Given the description of an element on the screen output the (x, y) to click on. 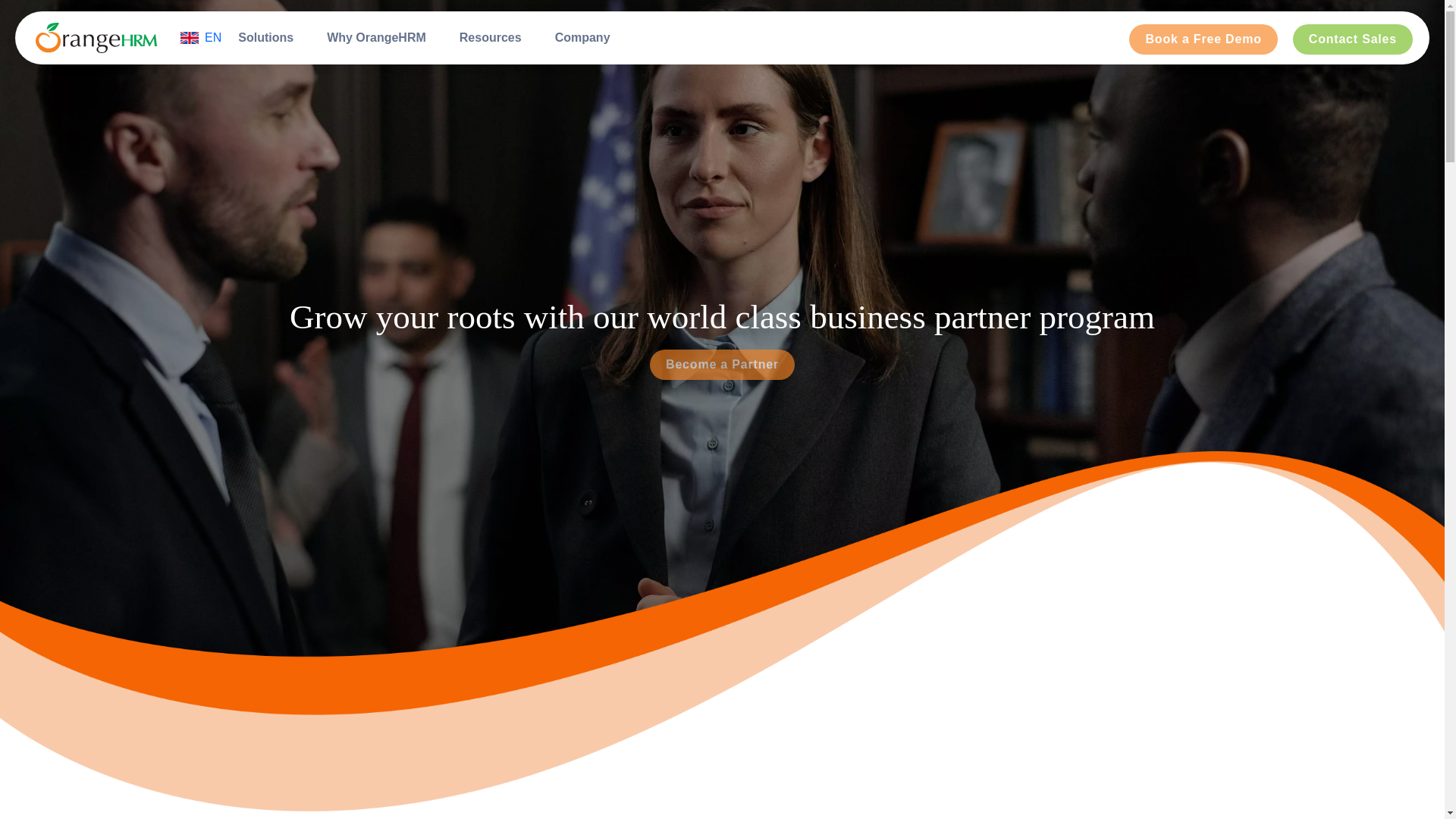
EN (200, 37)
Why OrangeHRM (376, 37)
